Given the description of an element on the screen output the (x, y) to click on. 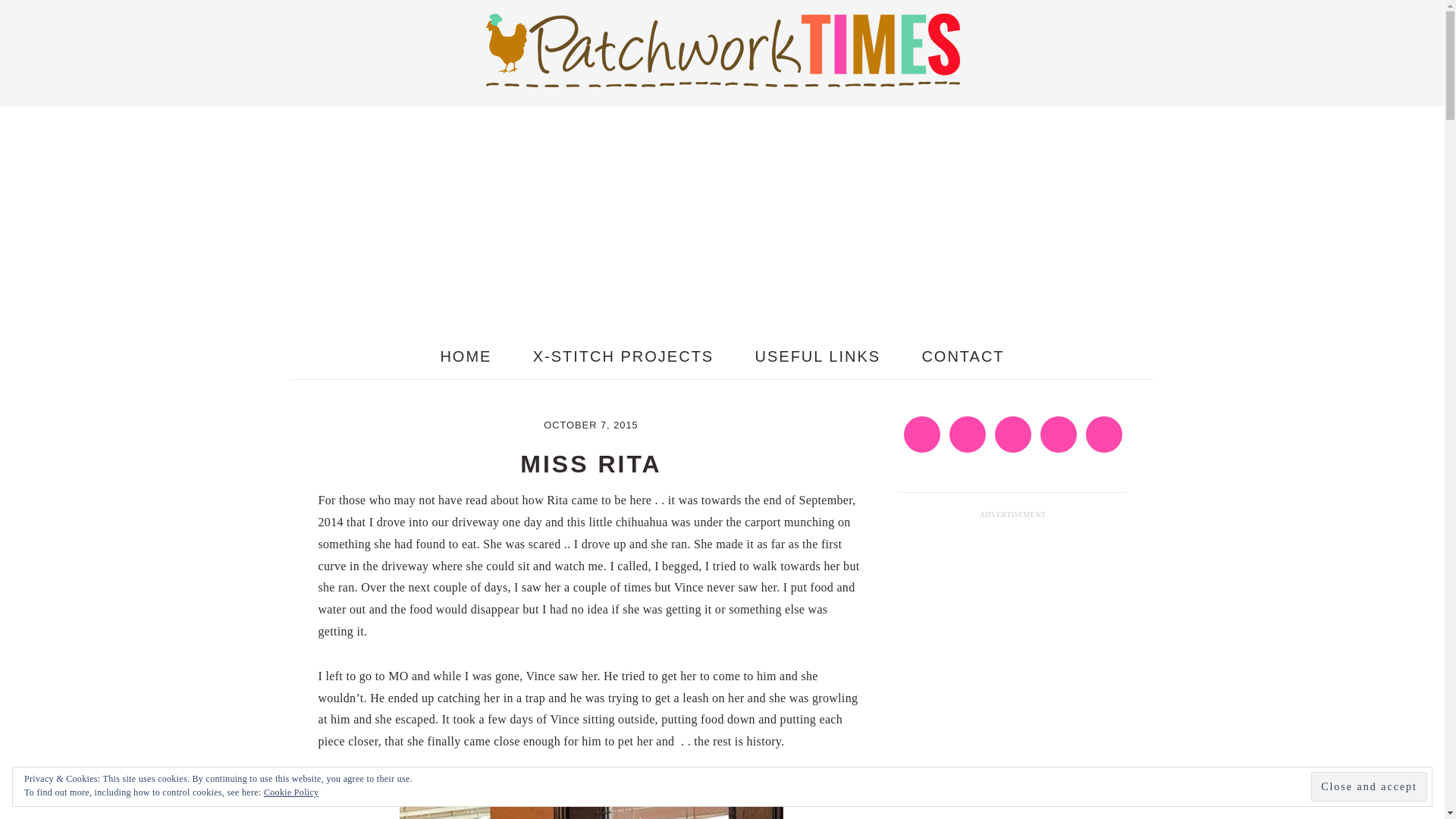
Patchwork Times by Judy Laquidara (721, 74)
Patchwork Times by Judy Laquidara (721, 48)
HOME (465, 356)
Close and accept (1368, 786)
X-STITCH PROJECTS (622, 356)
CONTACT (962, 356)
USEFUL LINKS (817, 356)
